Given the description of an element on the screen output the (x, y) to click on. 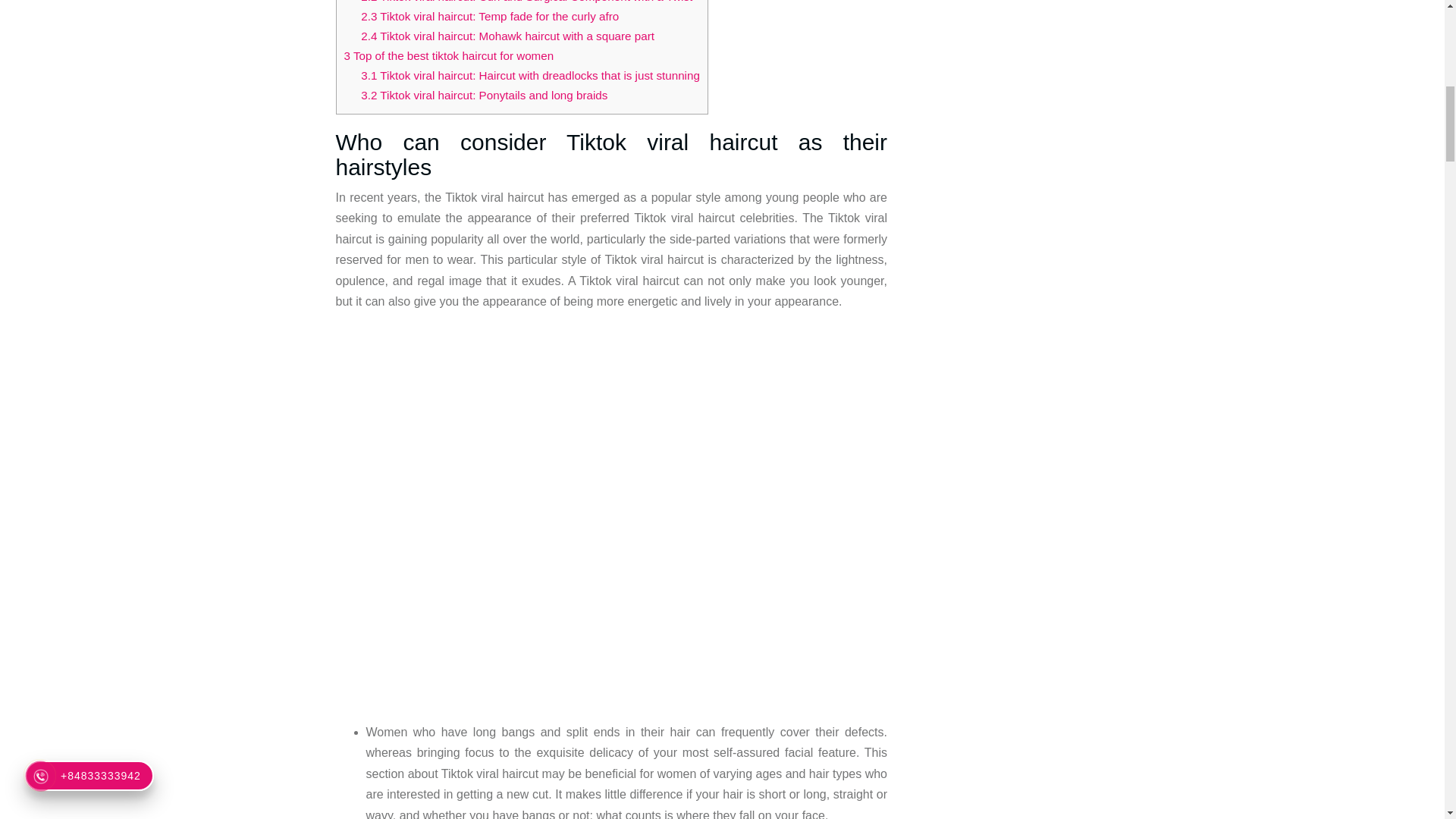
2.3 Tiktok viral haircut: Temp fade for the curly afro (489, 15)
2.4 Tiktok viral haircut: Mohawk haircut with a square part (507, 35)
3 Top of the best tiktok haircut for women (448, 55)
3.2 Tiktok viral haircut: Ponytails and long braids (484, 94)
